Given the description of an element on the screen output the (x, y) to click on. 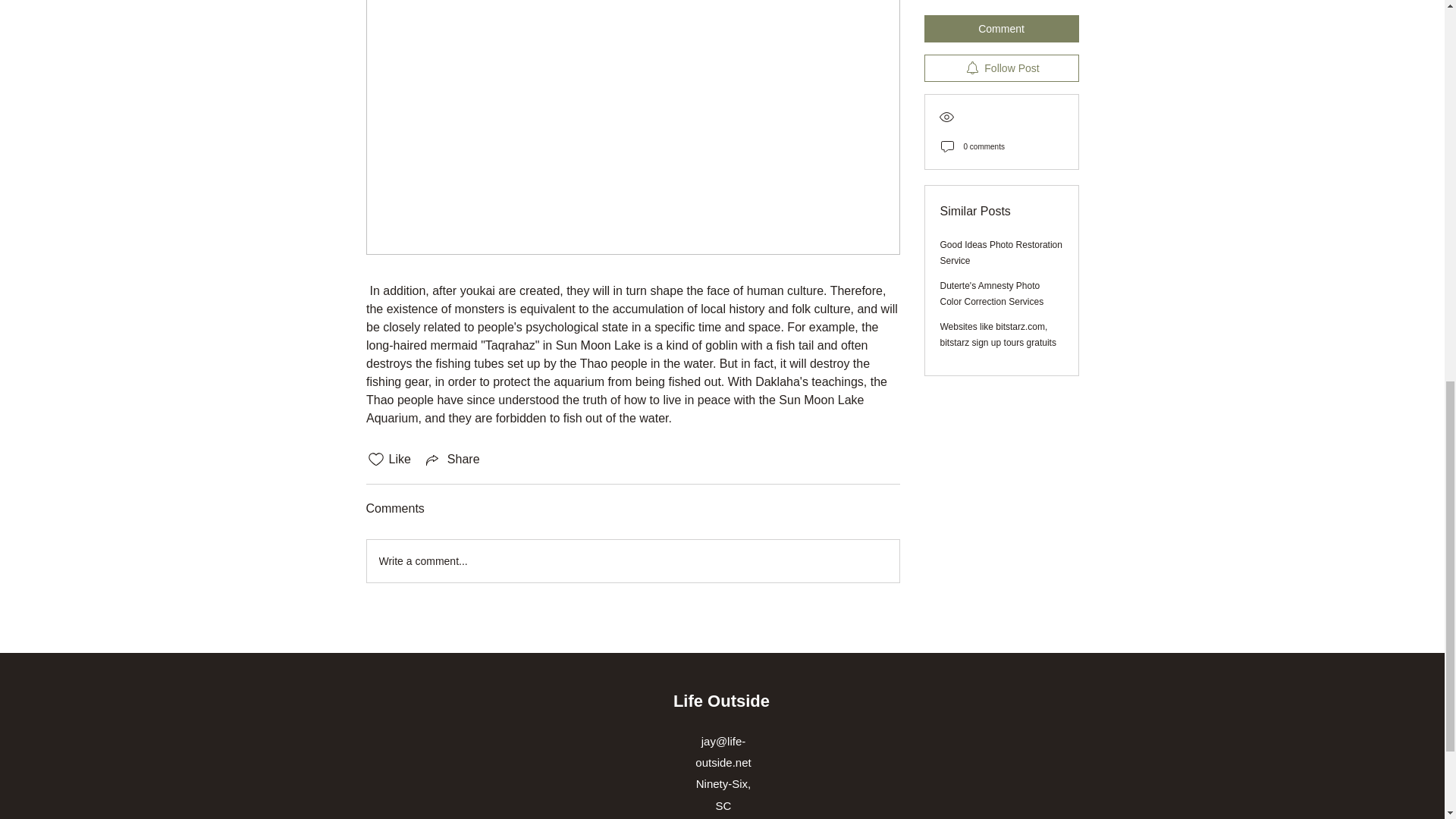
Share (451, 459)
Write a comment... (632, 560)
